Given the description of an element on the screen output the (x, y) to click on. 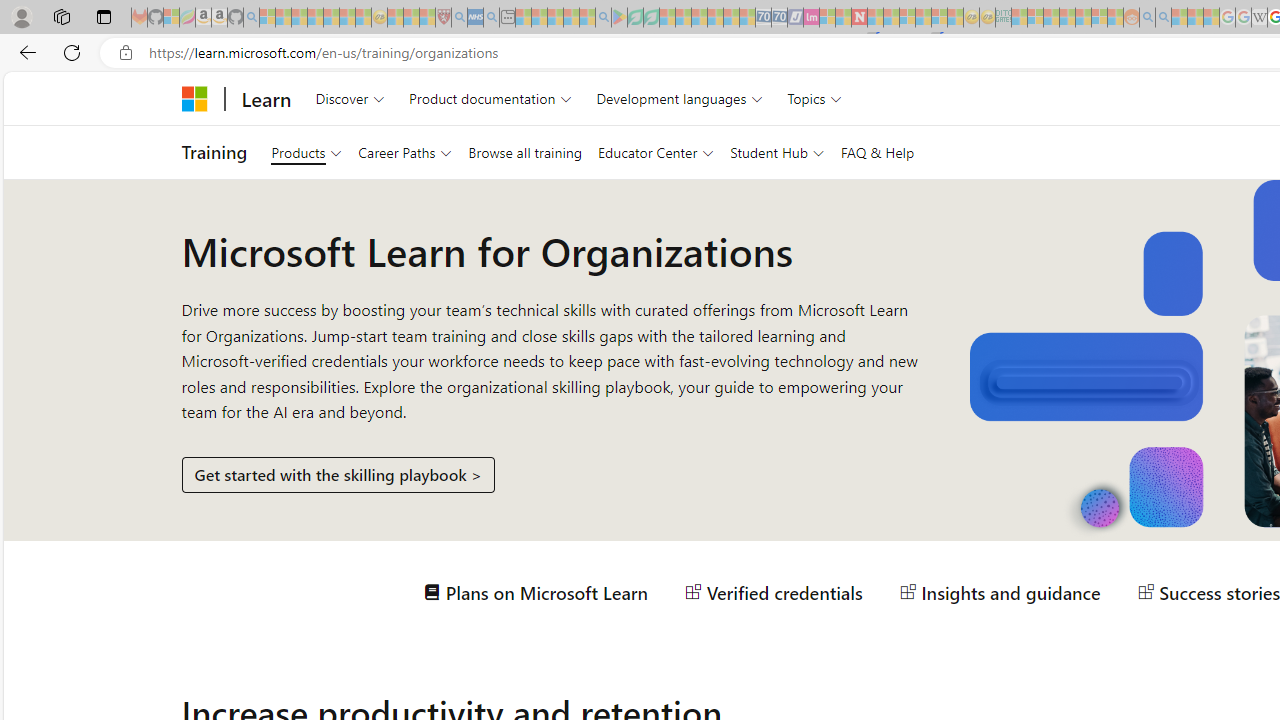
Topics (815, 98)
DITOGAMES AG Imprint - Sleeping (1003, 17)
Student Hub (777, 152)
Product documentation (490, 98)
Products (306, 152)
Jobs - lastminute.com Investor Portal - Sleeping (811, 17)
Expert Portfolios - Sleeping (1067, 17)
